Given the description of an element on the screen output the (x, y) to click on. 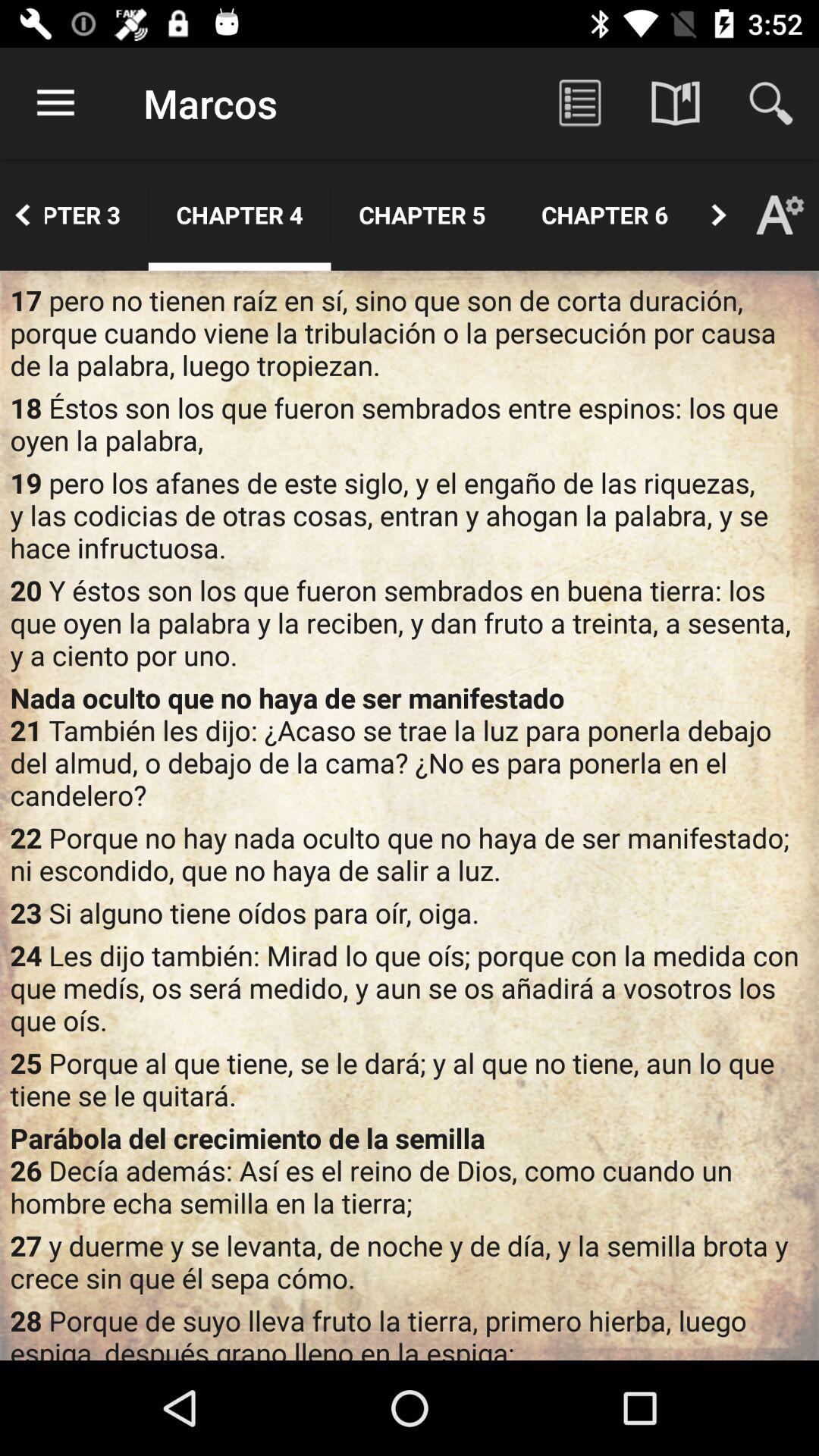
press the app next to chapter 6 app (696, 214)
